Given the description of an element on the screen output the (x, y) to click on. 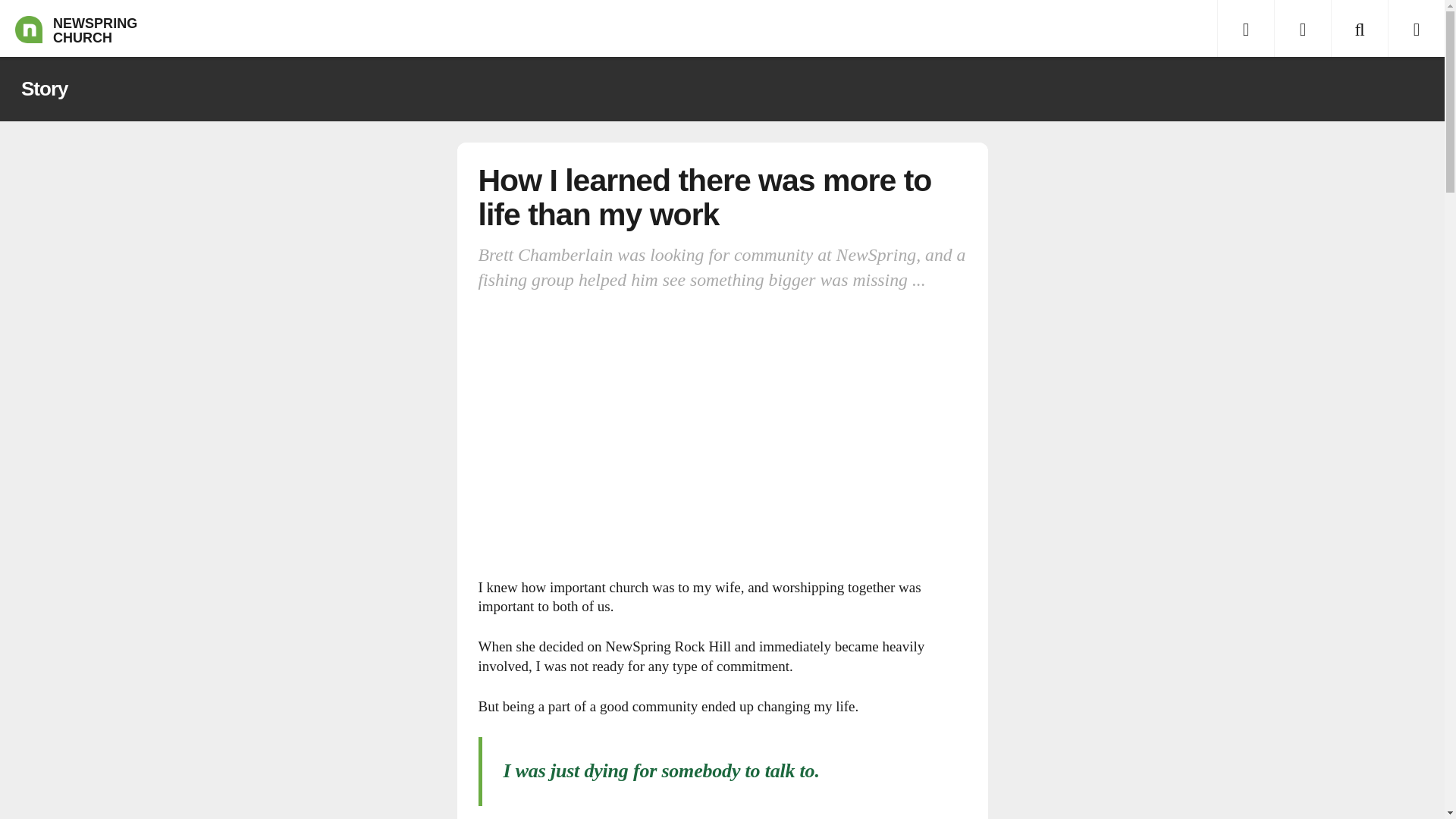
Menu (1245, 28)
NEWSPRING CHURCH (28, 28)
Search (1358, 28)
Locations (1302, 28)
